Given the description of an element on the screen output the (x, y) to click on. 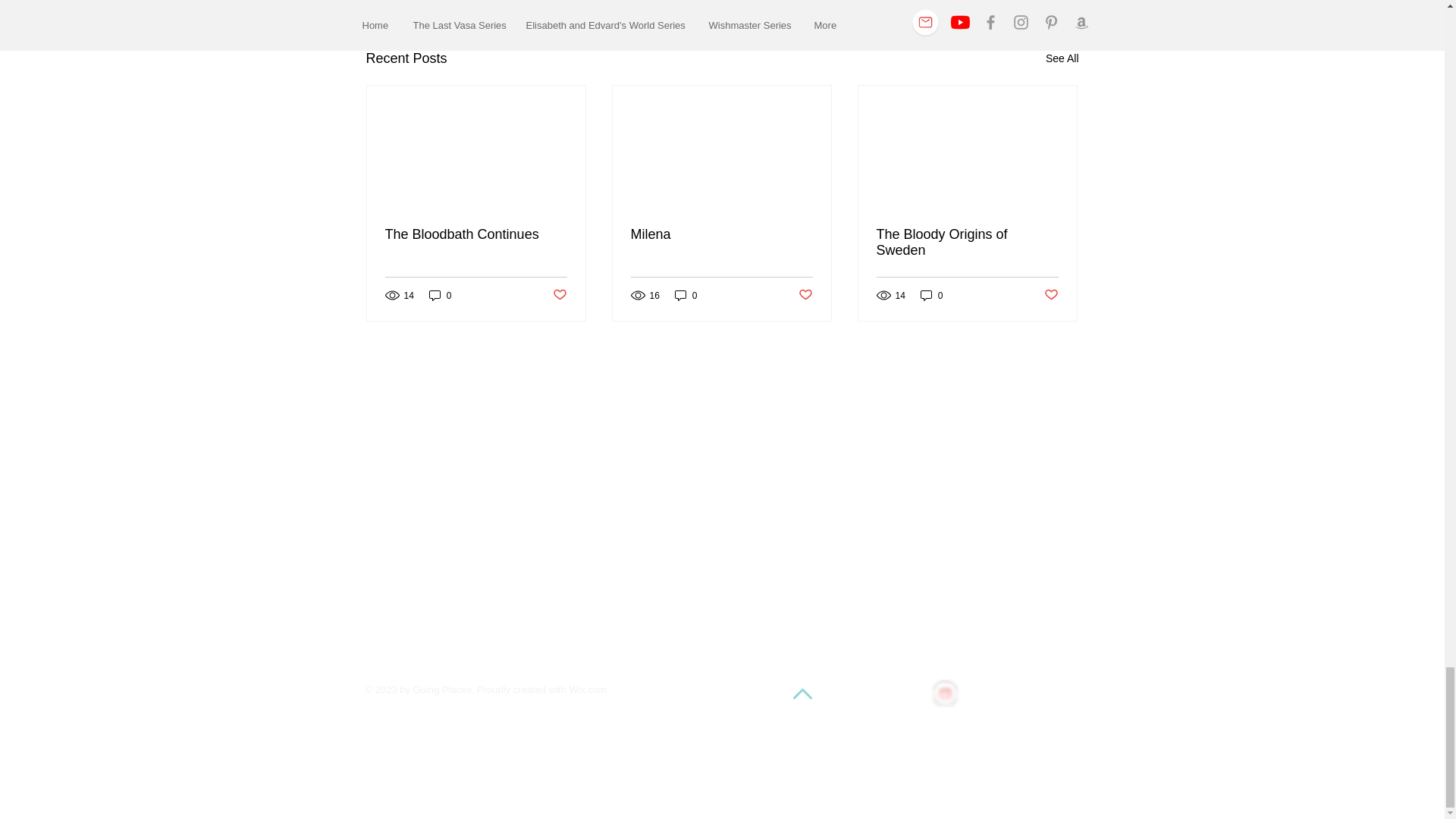
See All (1061, 58)
Post not marked as liked (558, 295)
0 (685, 295)
Post not marked as liked (804, 295)
Milena (721, 234)
The Bloodbath Continues (476, 234)
0 (440, 295)
